Given the description of an element on the screen output the (x, y) to click on. 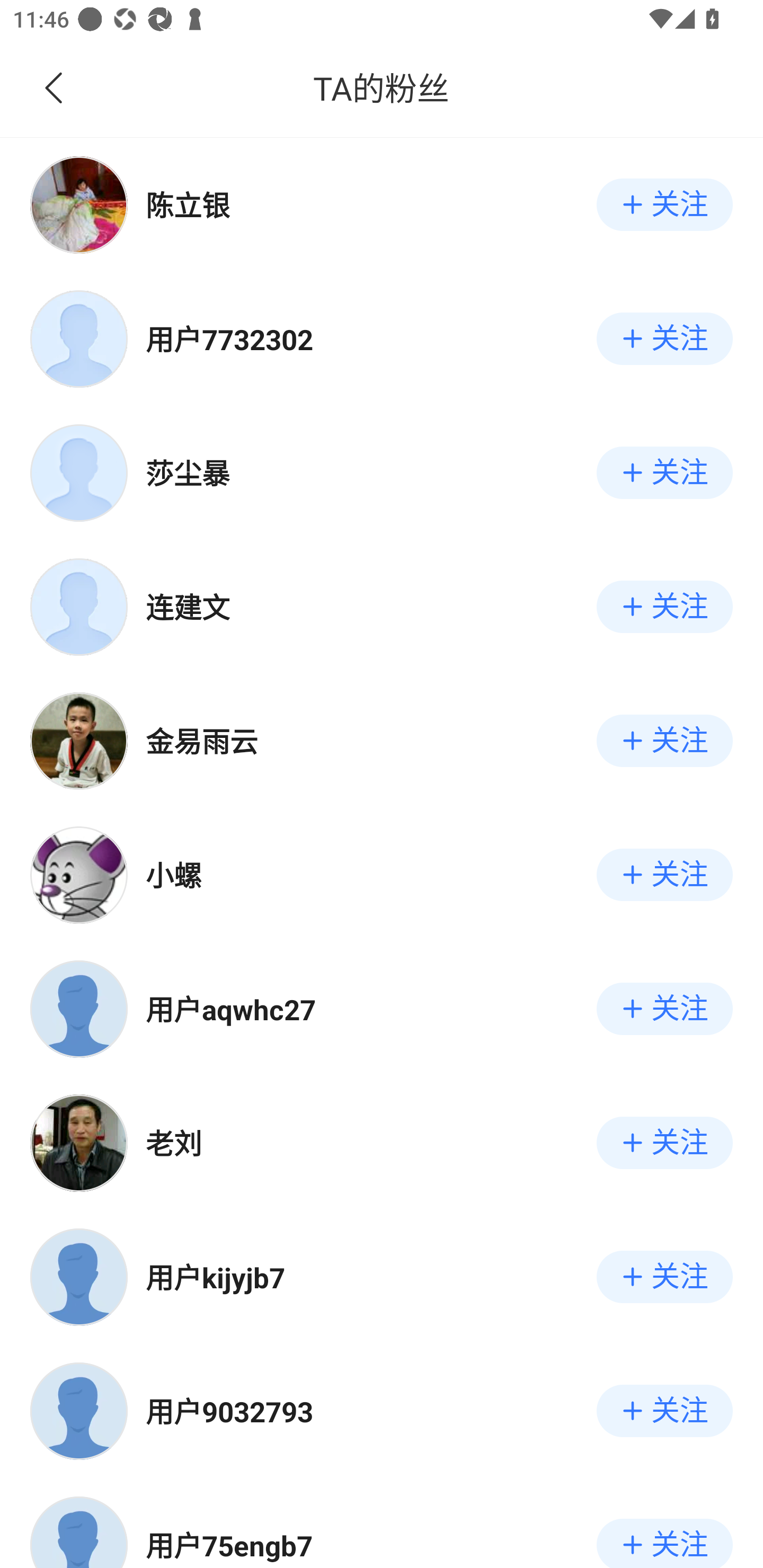
返回，可点击 (91, 87)
头像，可点击  关注 (381, 204)
 关注 (664, 204)
头像，可点击  关注 (381, 338)
 关注 (664, 338)
头像，可点击  关注 (381, 472)
 关注 (664, 472)
头像，可点击  关注 (381, 606)
 关注 (664, 606)
头像，可点击  关注 (381, 740)
 关注 (664, 740)
头像，可点击  关注 (381, 874)
 关注 (664, 874)
头像，可点击  关注 (381, 1008)
 关注 (664, 1008)
头像，可点击  关注 (381, 1142)
 关注 (664, 1142)
头像，可点击  关注 (381, 1276)
 关注 (664, 1277)
头像，可点击  关注 (381, 1410)
 关注 (664, 1410)
头像，可点击  关注 (381, 1523)
 关注 (664, 1543)
